Given the description of an element on the screen output the (x, y) to click on. 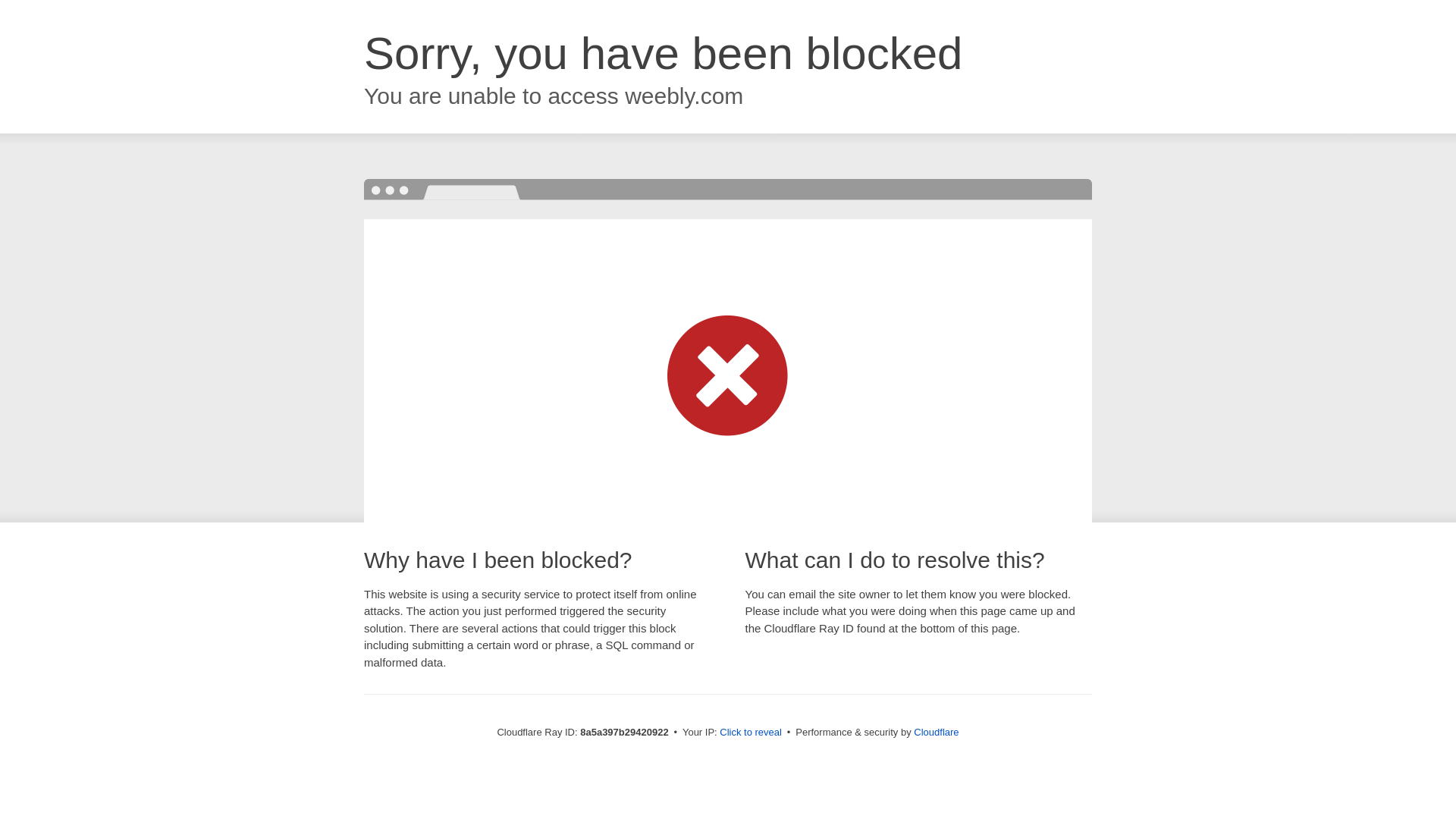
Cloudflare (936, 731)
Click to reveal (750, 732)
